Given the description of an element on the screen output the (x, y) to click on. 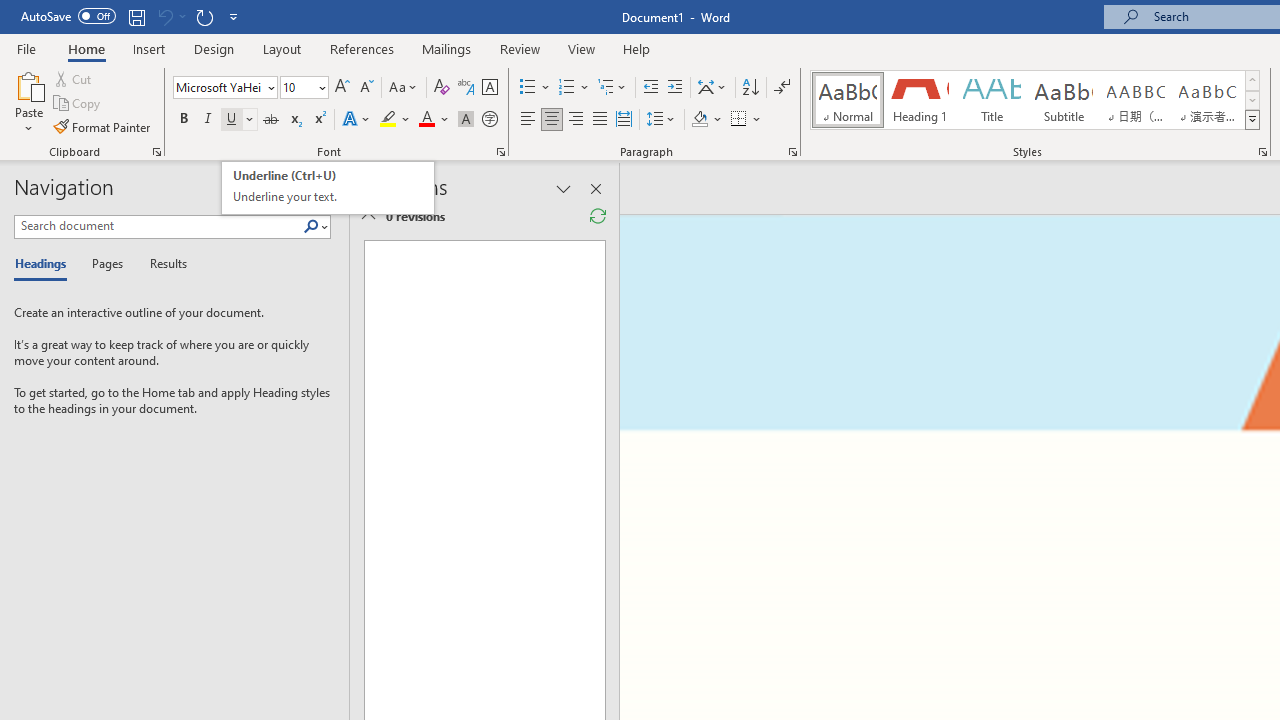
Title (991, 100)
Can't Undo (328, 188)
